Given the description of an element on the screen output the (x, y) to click on. 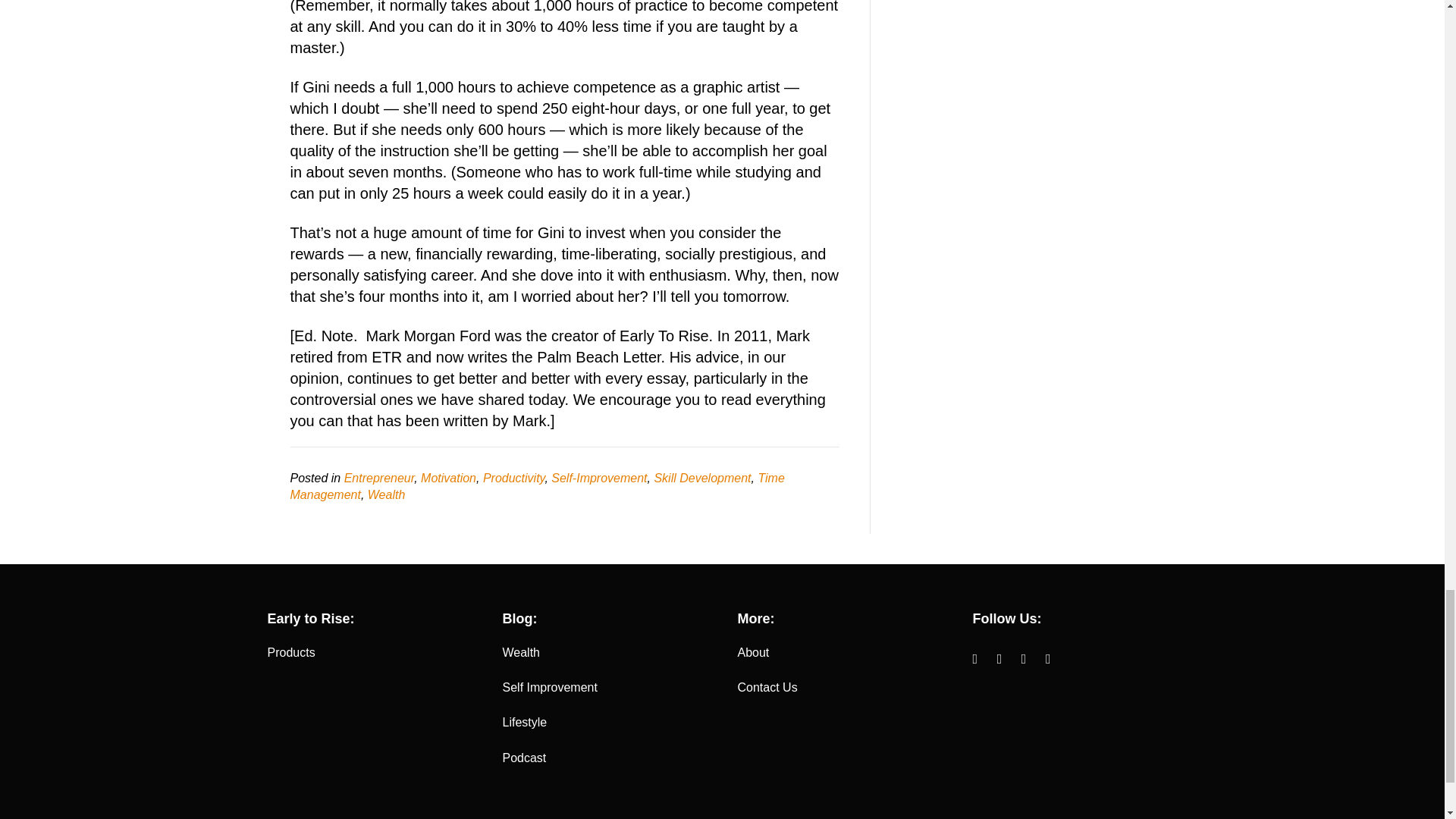
Entrepreneur (378, 477)
Wealth (521, 652)
About (752, 652)
Time Management (536, 486)
Motivation (448, 477)
Wealth (387, 494)
Lifestyle (524, 721)
Products (290, 652)
Contact Us (766, 686)
Self Improvement (549, 686)
Self-Improvement (598, 477)
Skill Development (702, 477)
Productivity (513, 477)
Podcast (524, 757)
